Given the description of an element on the screen output the (x, y) to click on. 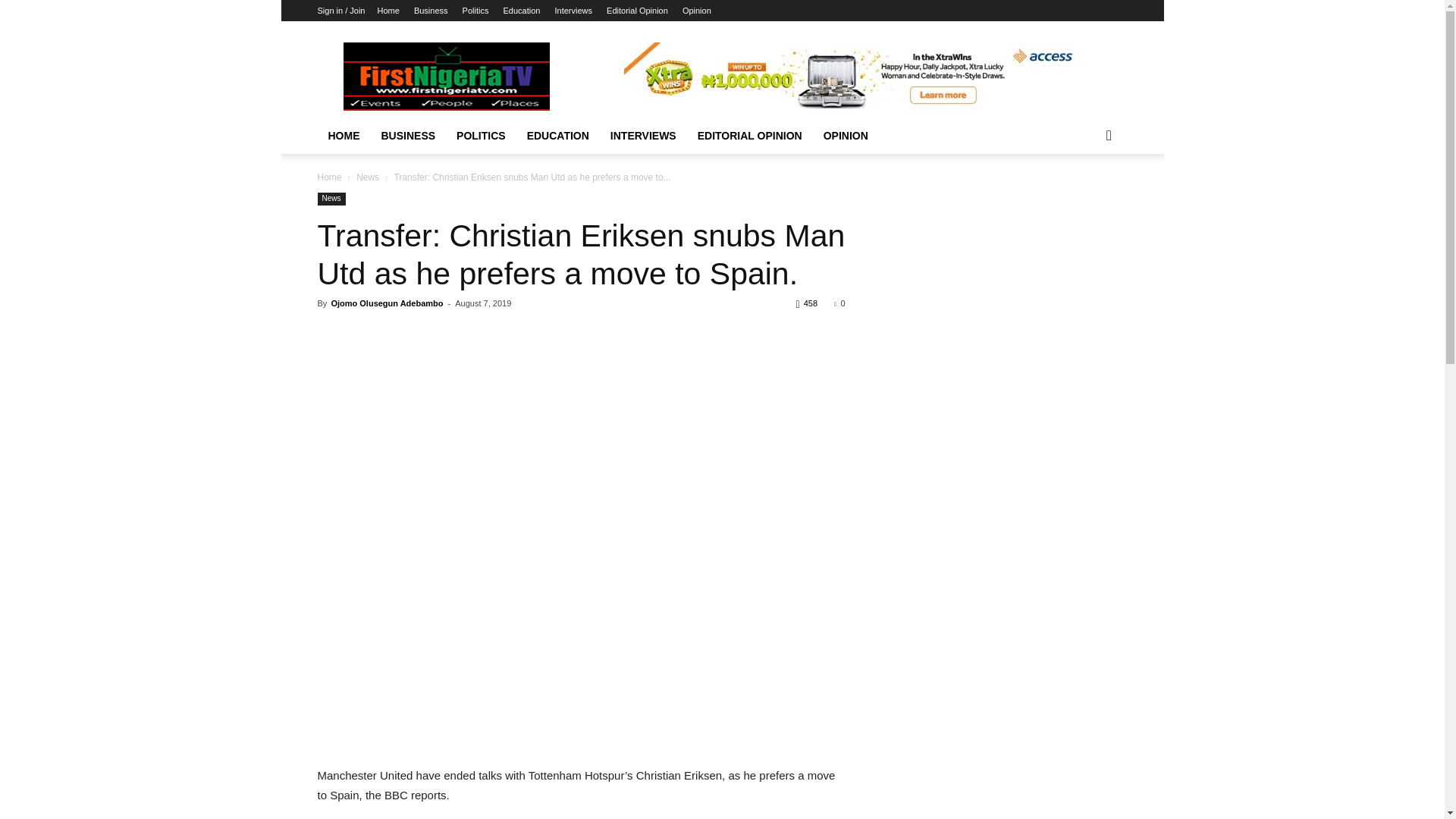
POLITICS (480, 135)
Interviews (573, 10)
Business (430, 10)
HOME (343, 135)
EDUCATION (557, 135)
Education (521, 10)
INTERVIEWS (643, 135)
BUSINESS (407, 135)
Editorial Opinion (637, 10)
Opinion (696, 10)
